Given the description of an element on the screen output the (x, y) to click on. 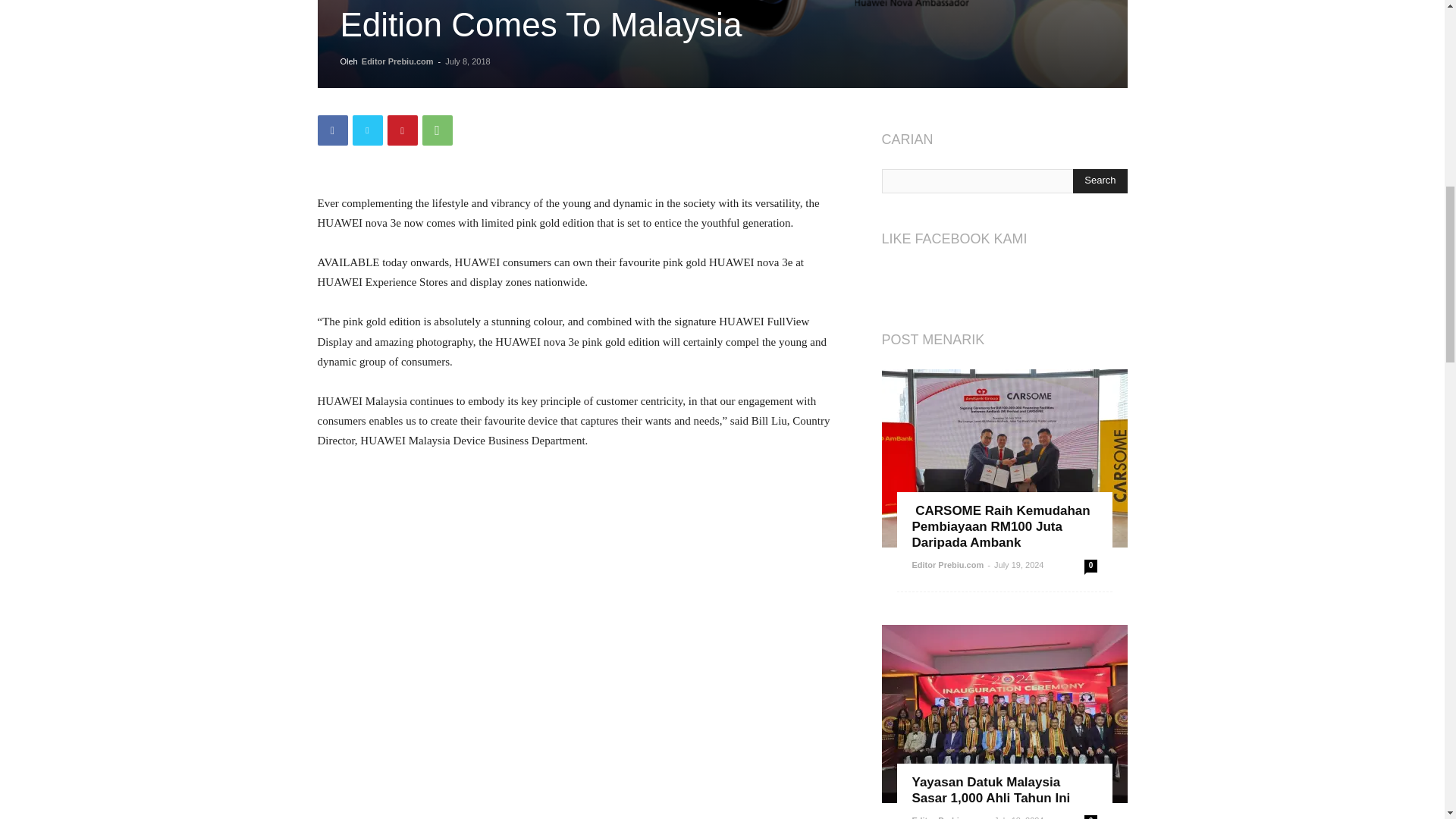
Search (1099, 180)
